Given the description of an element on the screen output the (x, y) to click on. 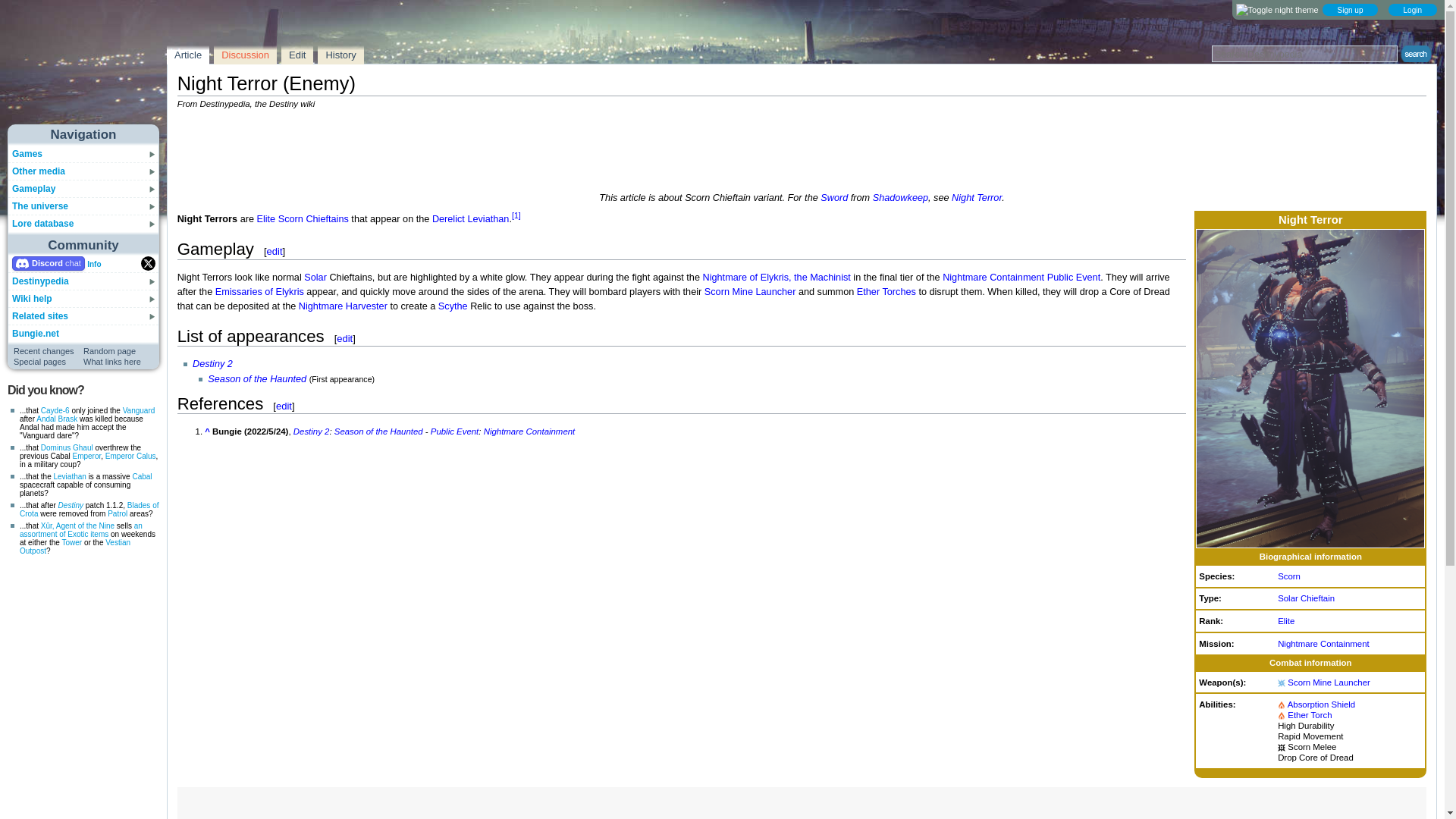
Games (26, 153)
X (148, 263)
Visit the main page (84, 69)
Search the pages for this text (1414, 53)
Toggle night theme (1277, 10)
Join our Discord server (47, 263)
Andal Brask (56, 418)
Emperor (85, 456)
Gameplay (33, 188)
About Discord (93, 263)
Cayde-6 (54, 410)
Search Destinypedia (1304, 53)
Other media (38, 171)
Blade of Crota (89, 509)
Sign up (1350, 9)
